Given the description of an element on the screen output the (x, y) to click on. 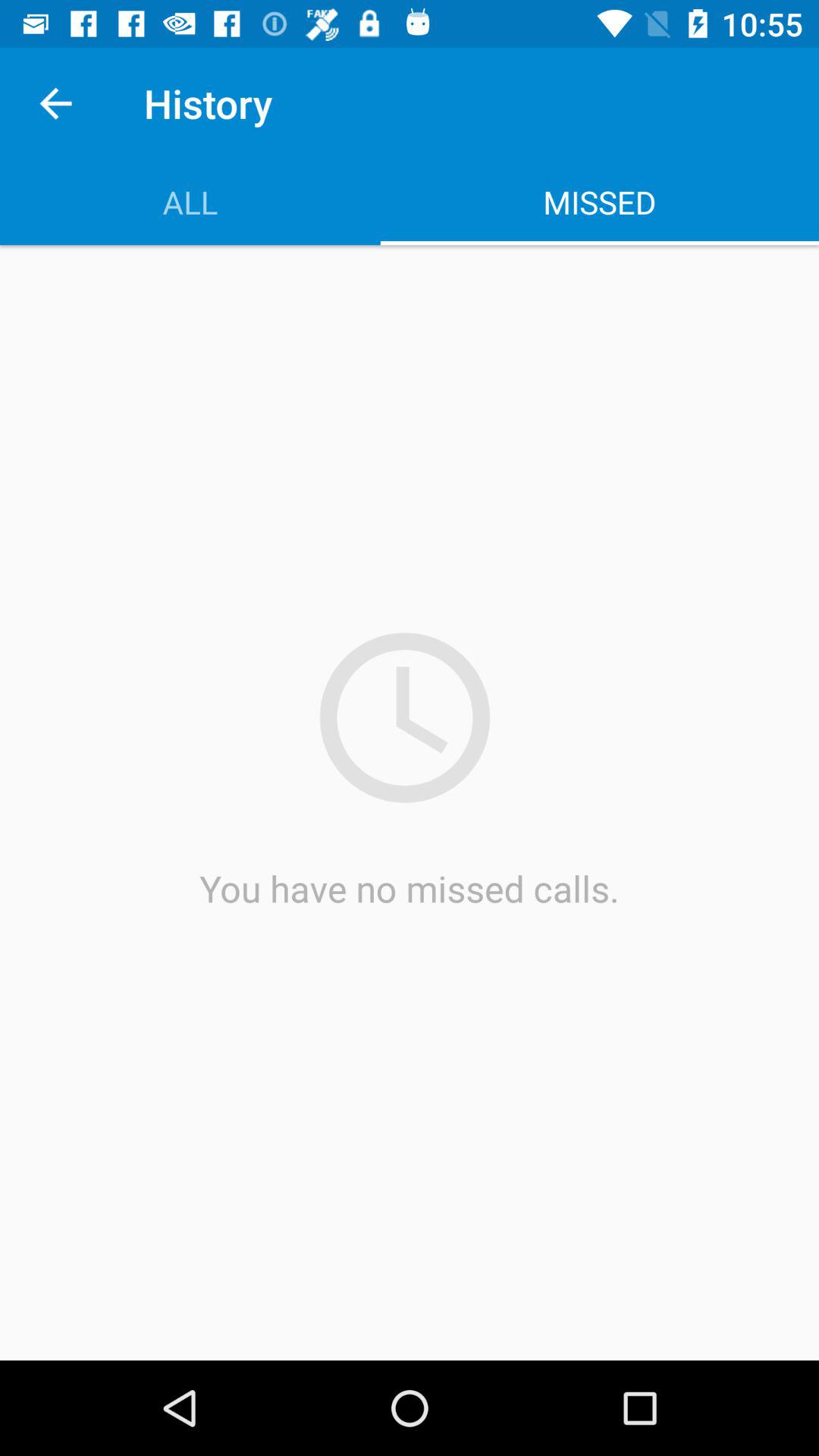
scroll to all app (190, 202)
